Given the description of an element on the screen output the (x, y) to click on. 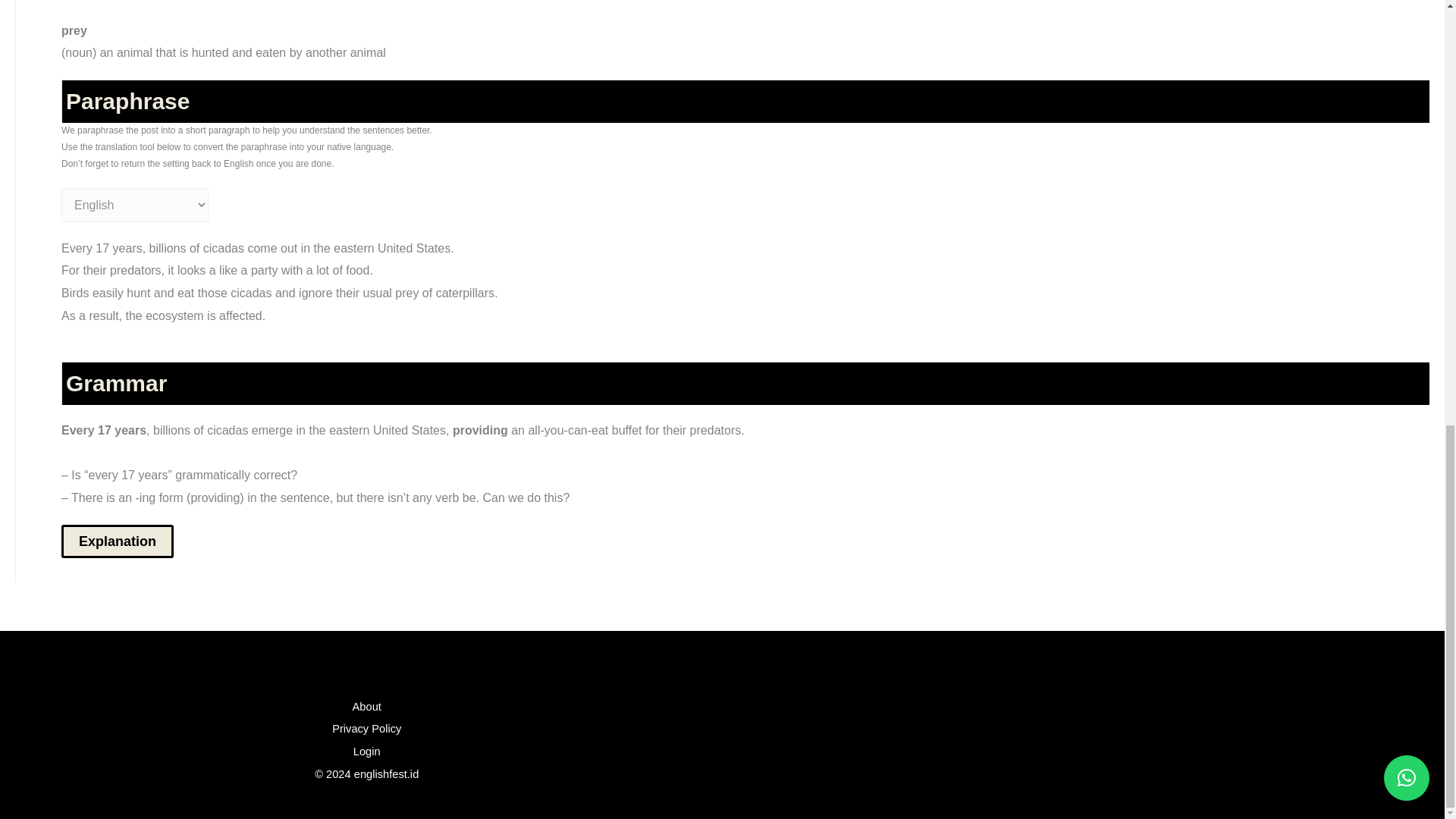
Login (366, 750)
About (366, 706)
Privacy Policy (366, 727)
Explanation (117, 540)
